Given the description of an element on the screen output the (x, y) to click on. 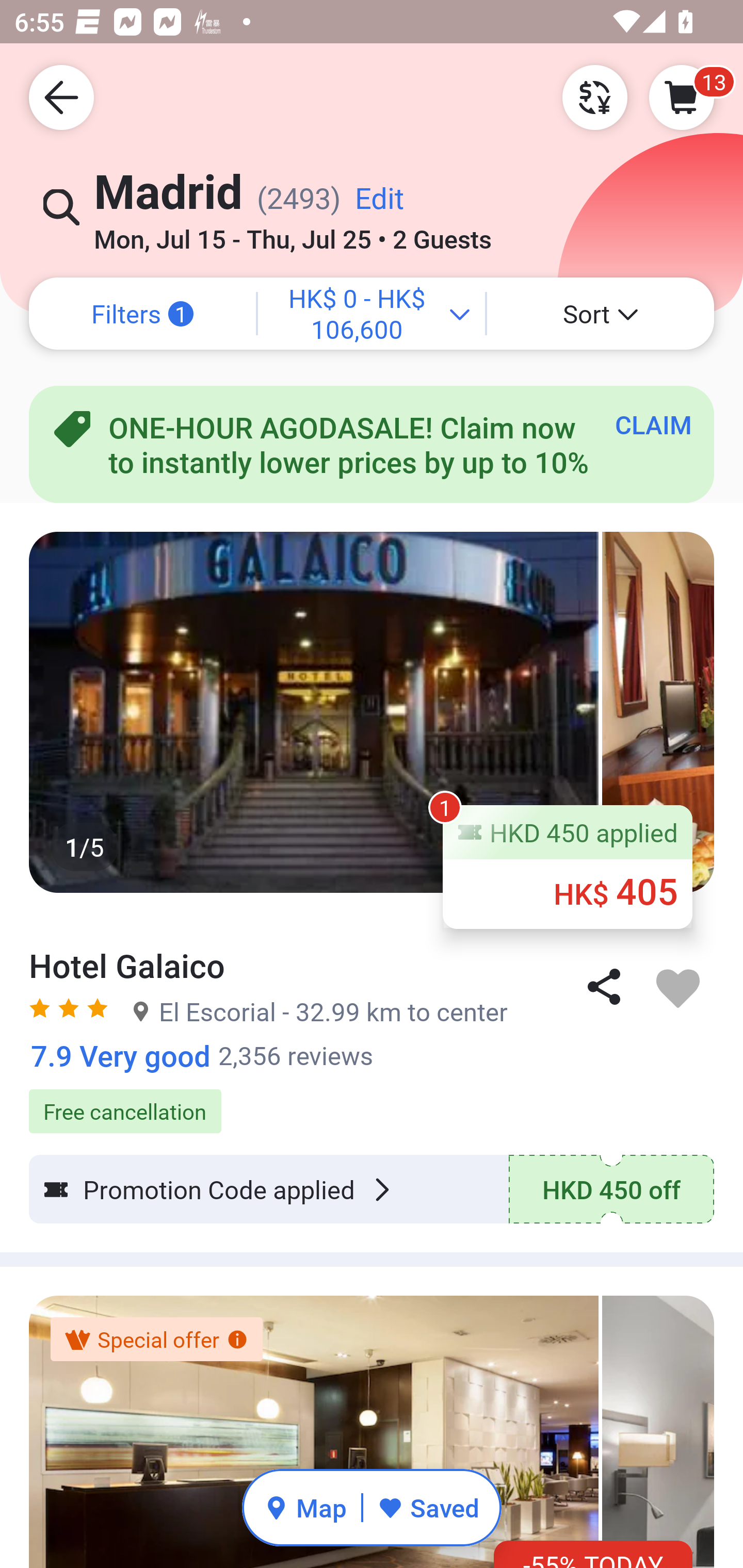
Filters 1 (141, 313)
⁦HK$ 0⁩ - ⁦HK$ 106,600⁩ (371, 313)
Sort (600, 313)
CLAIM (653, 424)
1/5 (371, 711)
HKD 450 applied ‪HK$ 405 1 (567, 866)
Free cancellation (371, 1100)
Promotion Code applied HKD 450 off (371, 1189)
Special offer (156, 1339)
Map (305, 1507)
Saved (428, 1507)
